Given the description of an element on the screen output the (x, y) to click on. 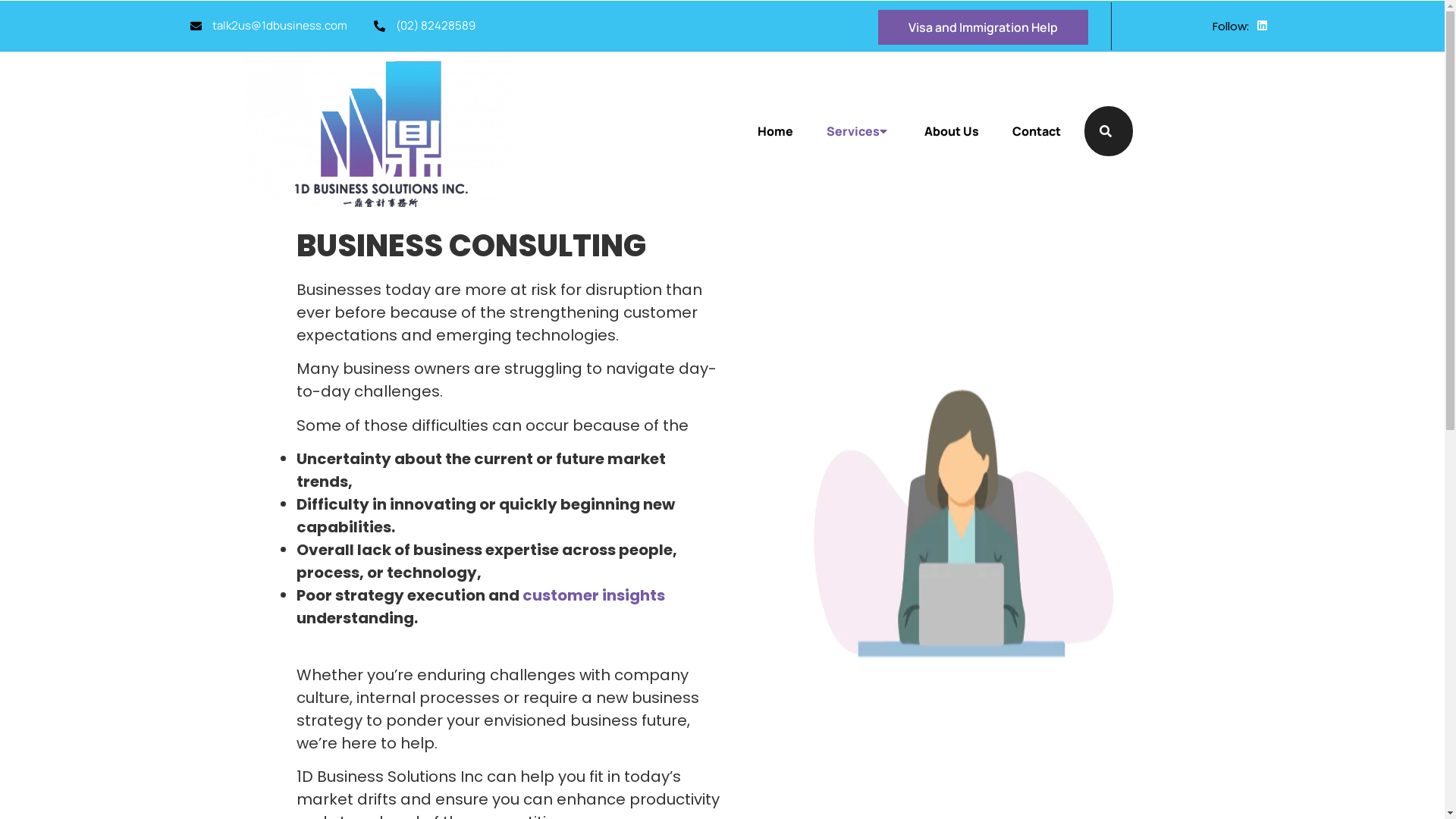
(02) 82428589 Element type: text (424, 25)
talk2us@1dbusiness.com Element type: text (268, 25)
1db-logo Element type: hover (378, 131)
Services Element type: text (858, 131)
About Us Element type: text (951, 131)
Contact Element type: text (1030, 131)
Home Element type: text (780, 131)
customer insights Element type: text (592, 594)
Visa and Immigration Help Element type: text (983, 26)
